Given the description of an element on the screen output the (x, y) to click on. 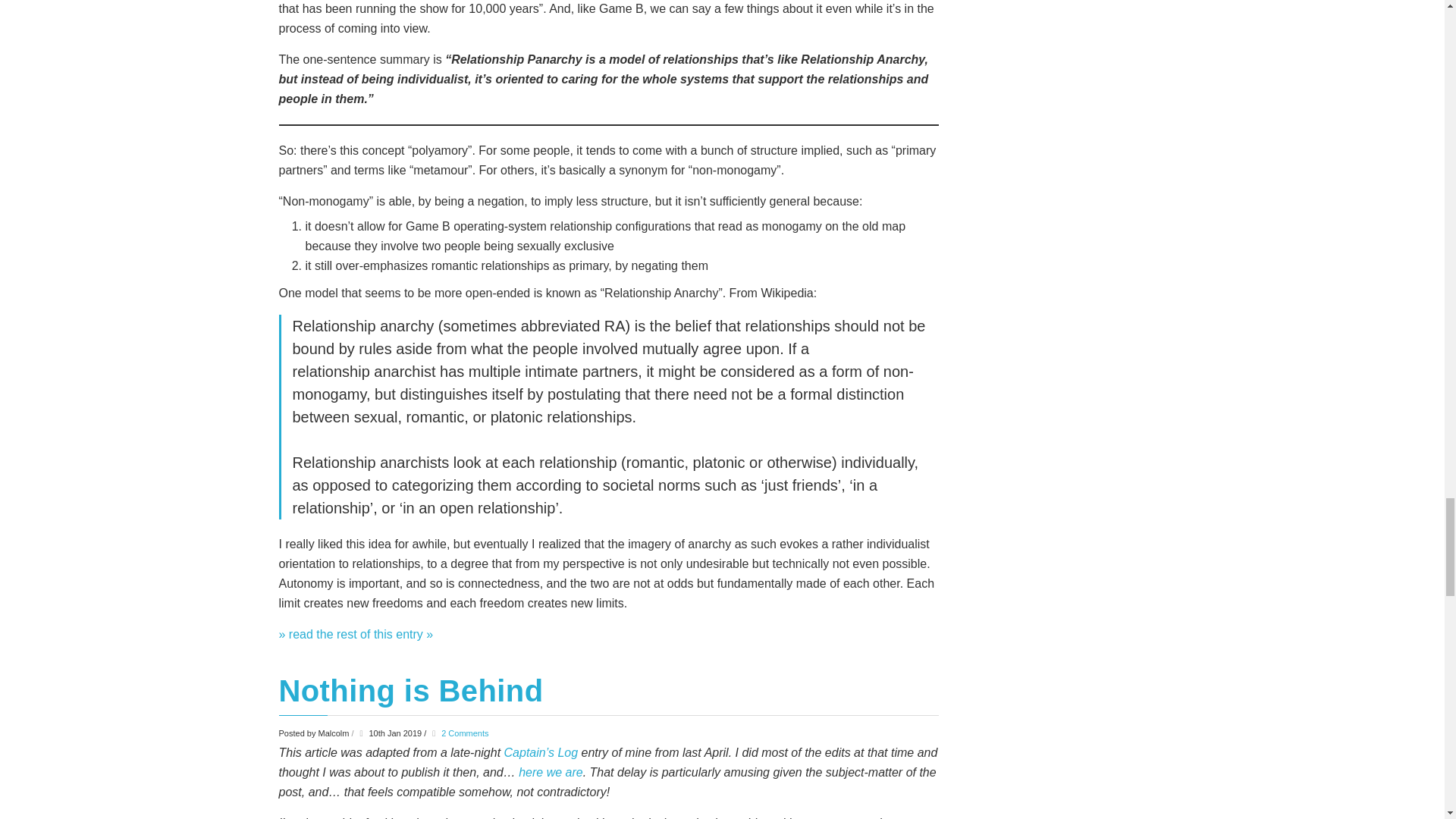
2 Comments (464, 732)
2 Comments (464, 732)
Nothing is Behind (411, 690)
